Given the description of an element on the screen output the (x, y) to click on. 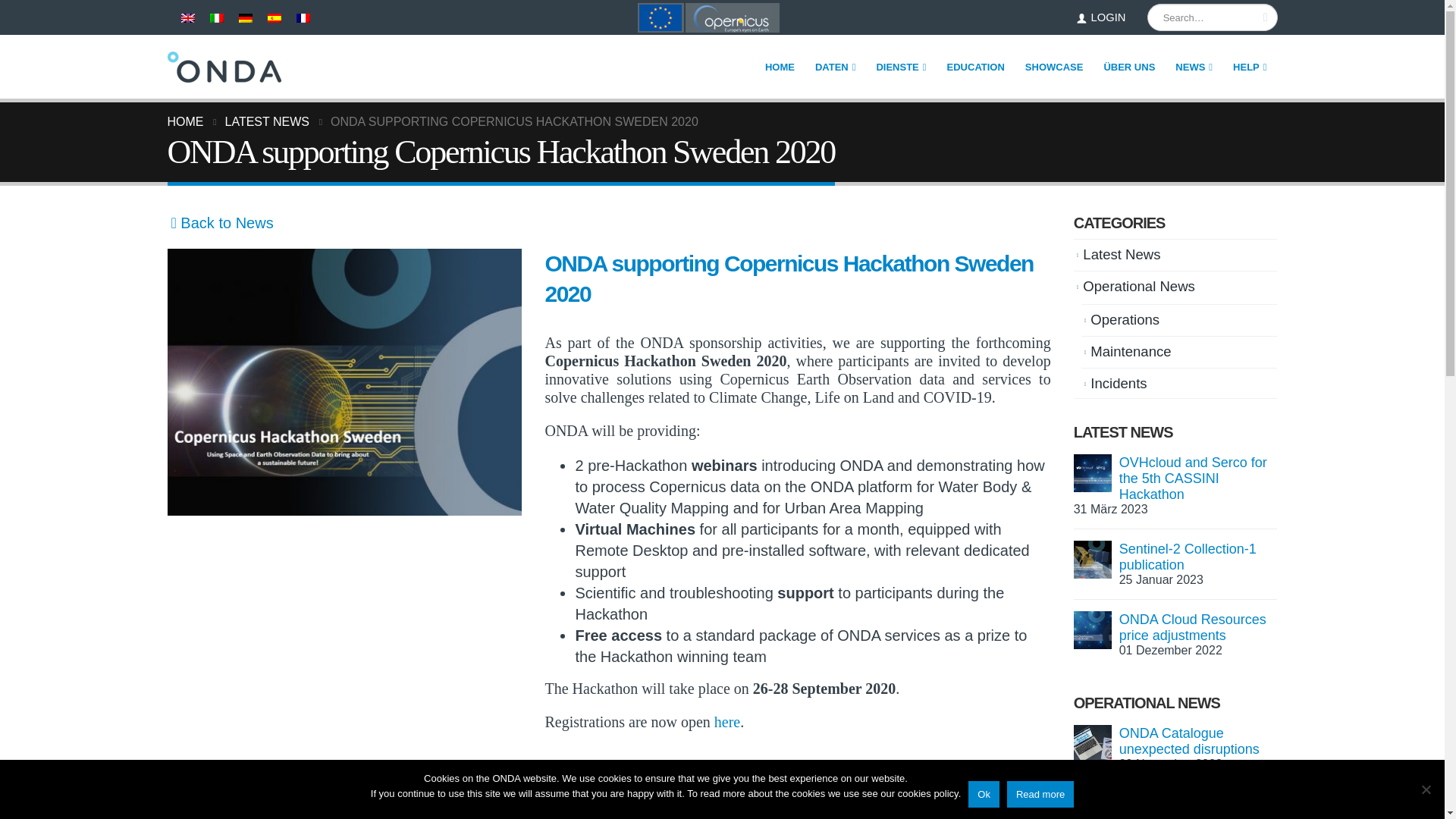
DIENSTE (901, 66)
Deutsch (244, 17)
Italiano (215, 17)
ONDA-DIAS - People on data (224, 66)
HELP (1249, 66)
SHOWCASE (1053, 66)
NEWS (1194, 66)
English (186, 17)
HOME (780, 66)
DATEN (835, 66)
